Given the description of an element on the screen output the (x, y) to click on. 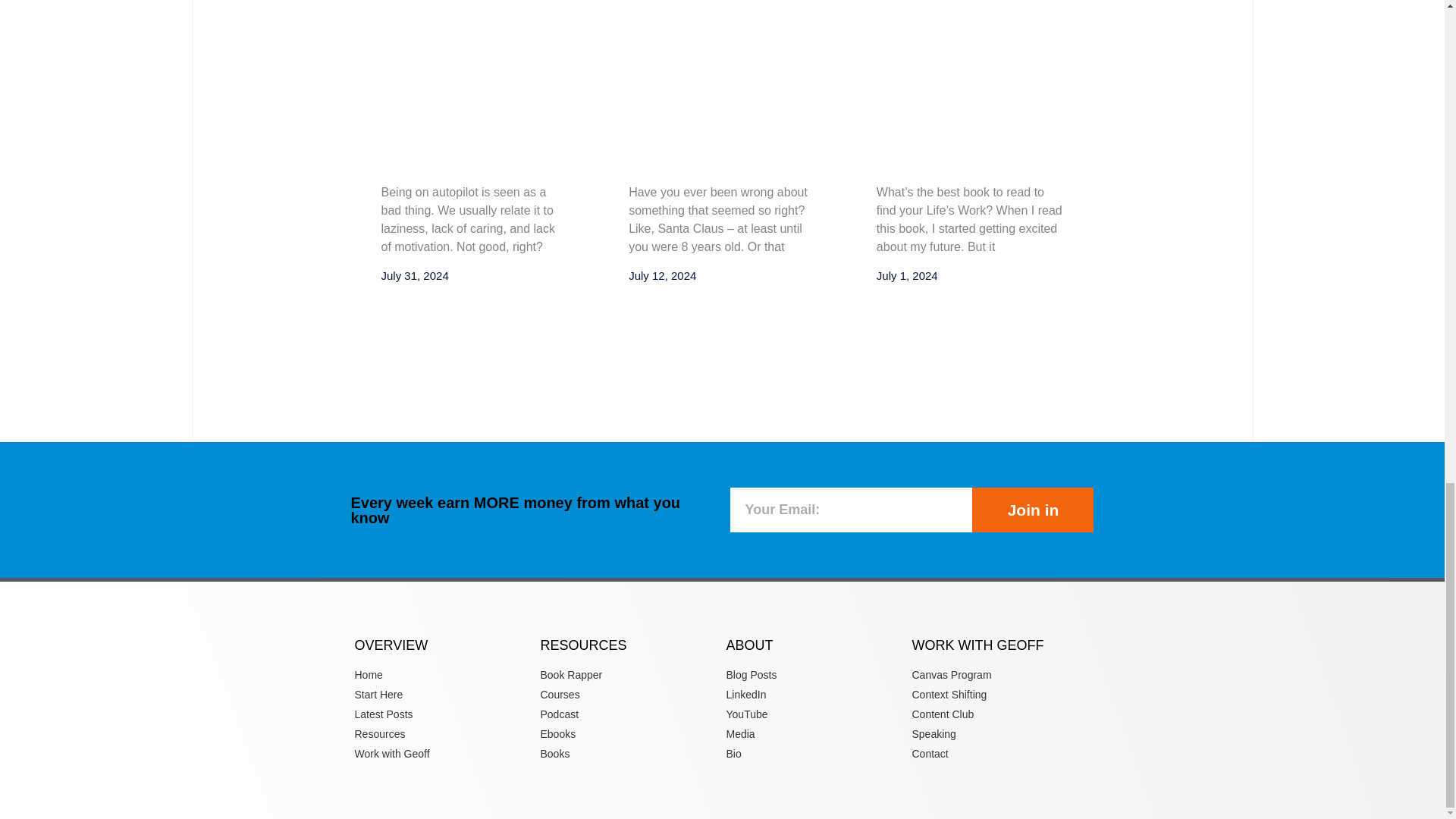
Context Shifting (1000, 694)
Join in (1032, 509)
LinkedIn (815, 694)
Blog Posts (815, 675)
Home (443, 675)
Latest Posts (443, 714)
Start Here (443, 694)
Work with Geoff (443, 754)
Resources (443, 734)
Canvas Program (1000, 675)
Books (628, 754)
Courses (628, 694)
Podcast (628, 714)
Bio (815, 754)
YouTube (815, 714)
